Given the description of an element on the screen output the (x, y) to click on. 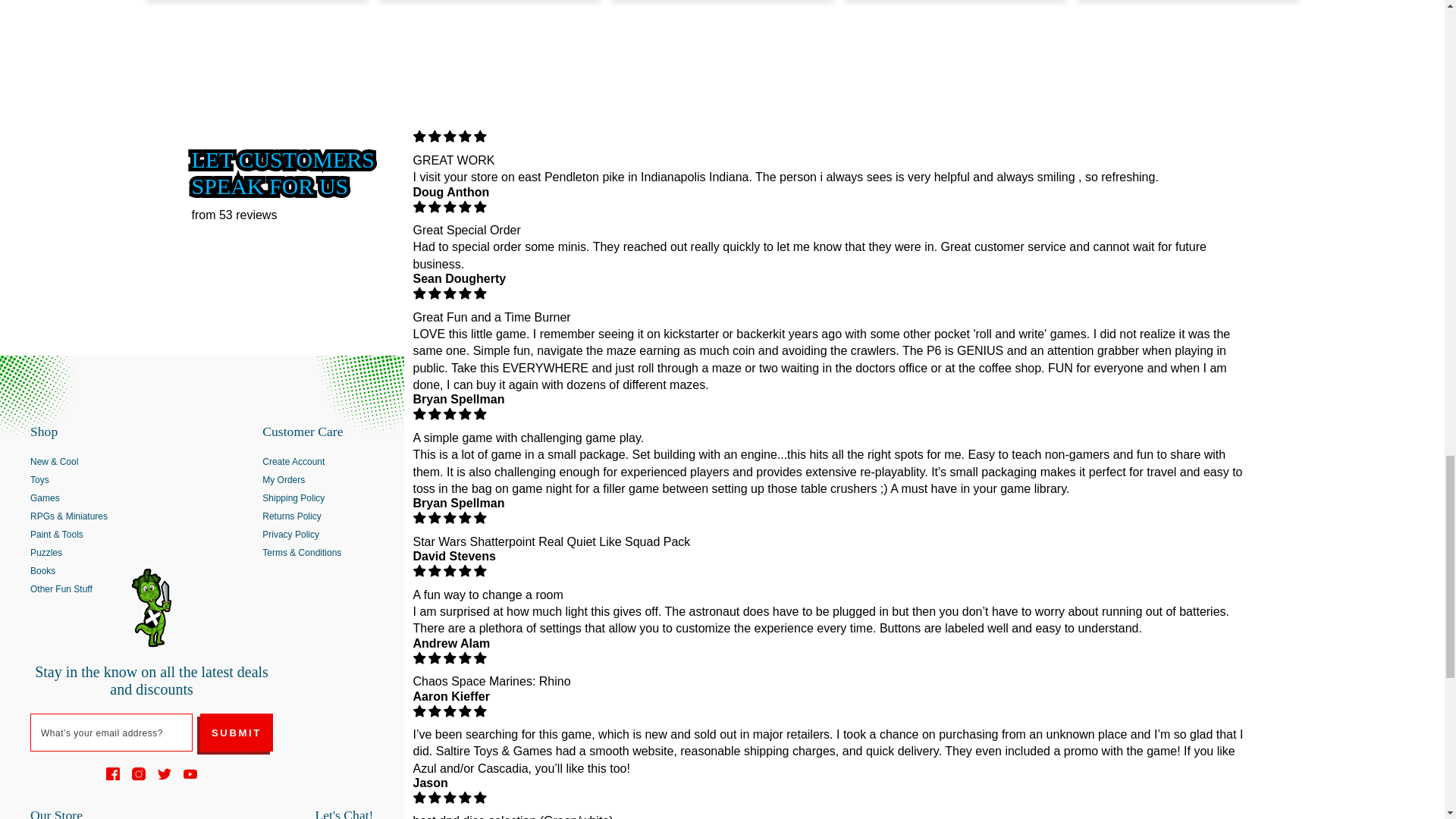
YouTube (189, 773)
Twitter (164, 773)
Facebook (112, 773)
Instagram (138, 773)
